Given the description of an element on the screen output the (x, y) to click on. 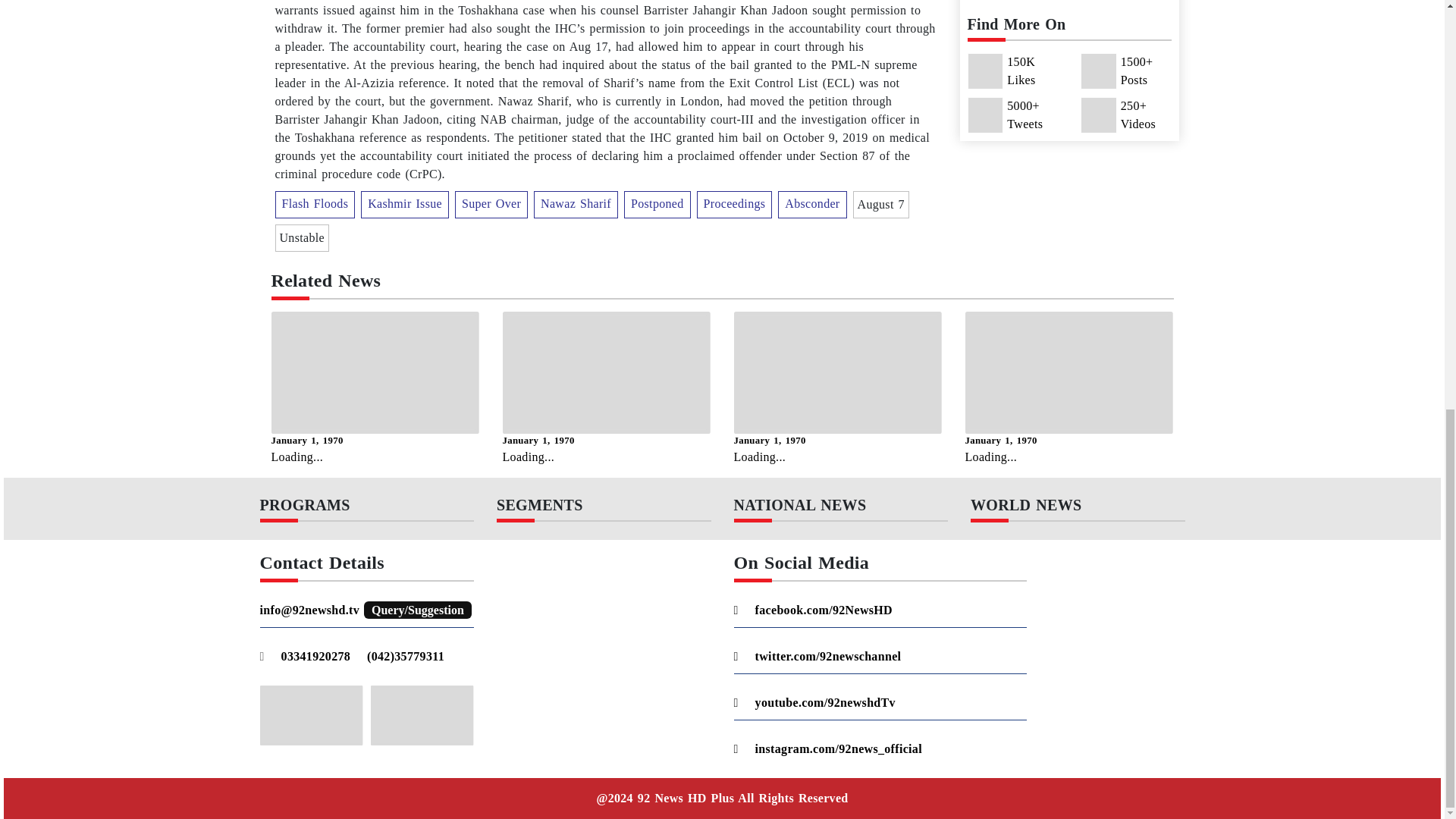
This tag has too few posts, so not its not a category yet (302, 237)
Flash Floods (315, 204)
This tag has too few posts, so not its not a category yet (880, 204)
